Given the description of an element on the screen output the (x, y) to click on. 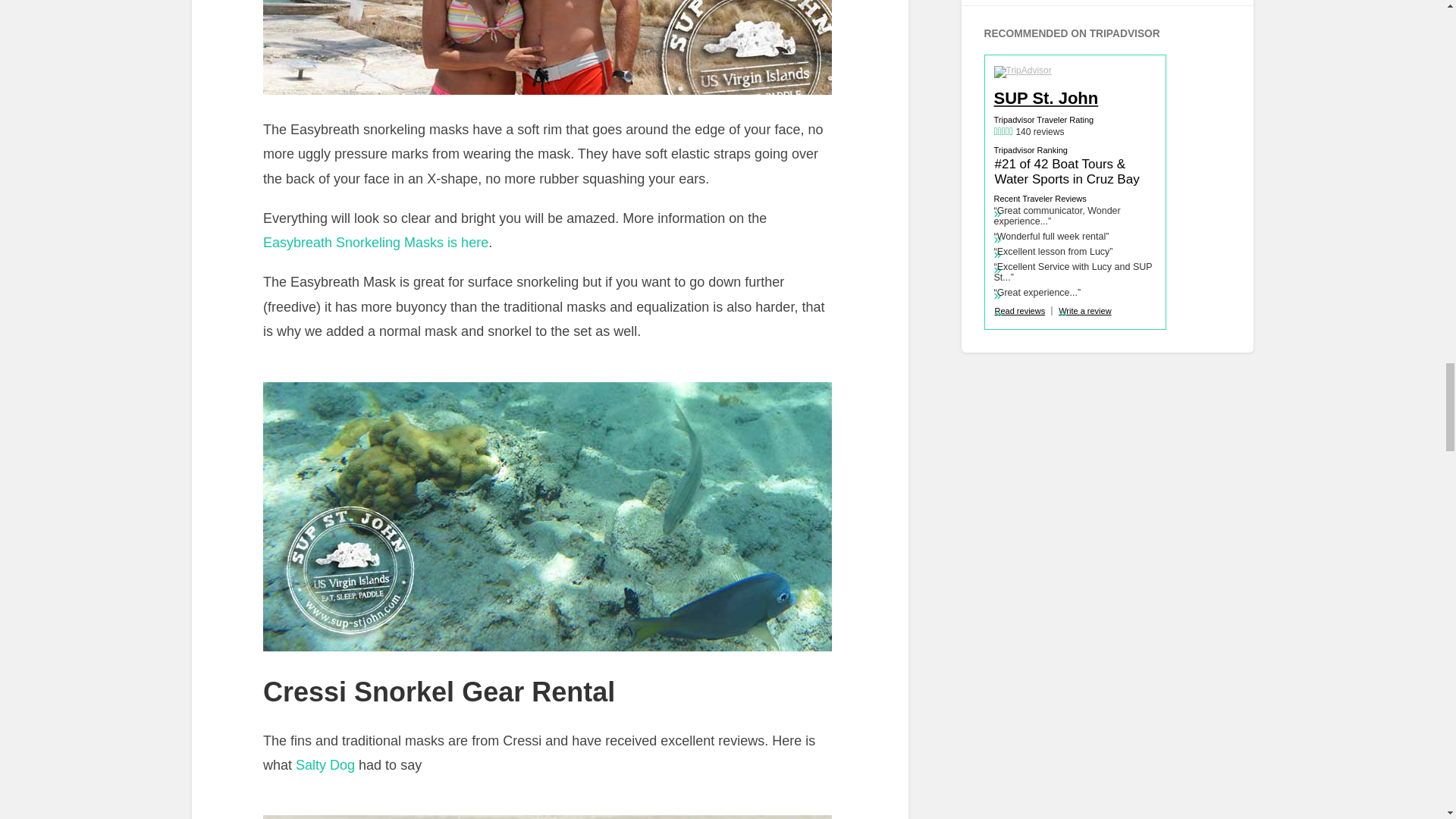
Salty Dog Snorkeling Gear Review (325, 765)
Easybreath Snorkeling Masks (375, 242)
